Given the description of an element on the screen output the (x, y) to click on. 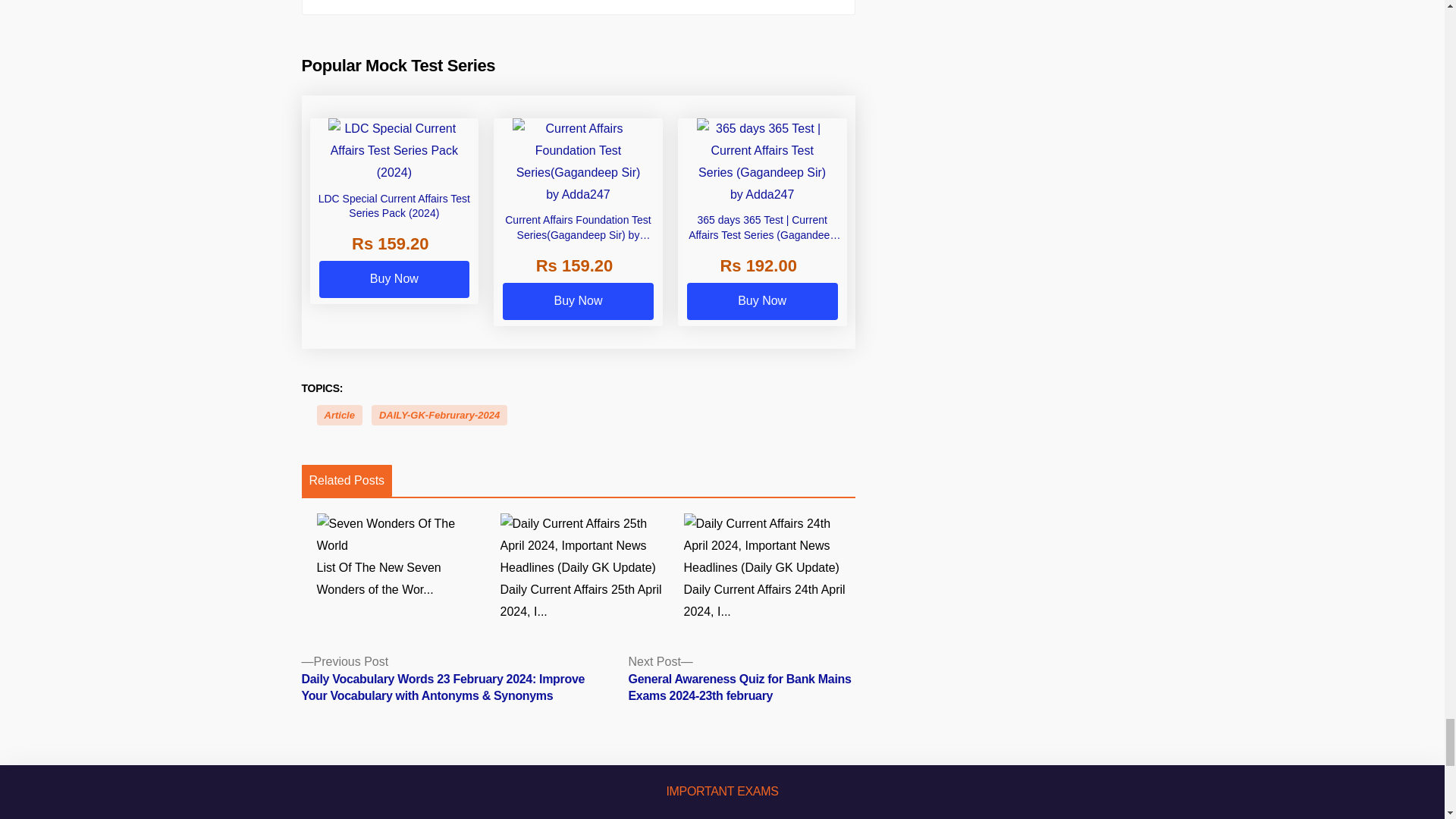
List Of The New Seven Wonders of the World (402, 556)
